Given the description of an element on the screen output the (x, y) to click on. 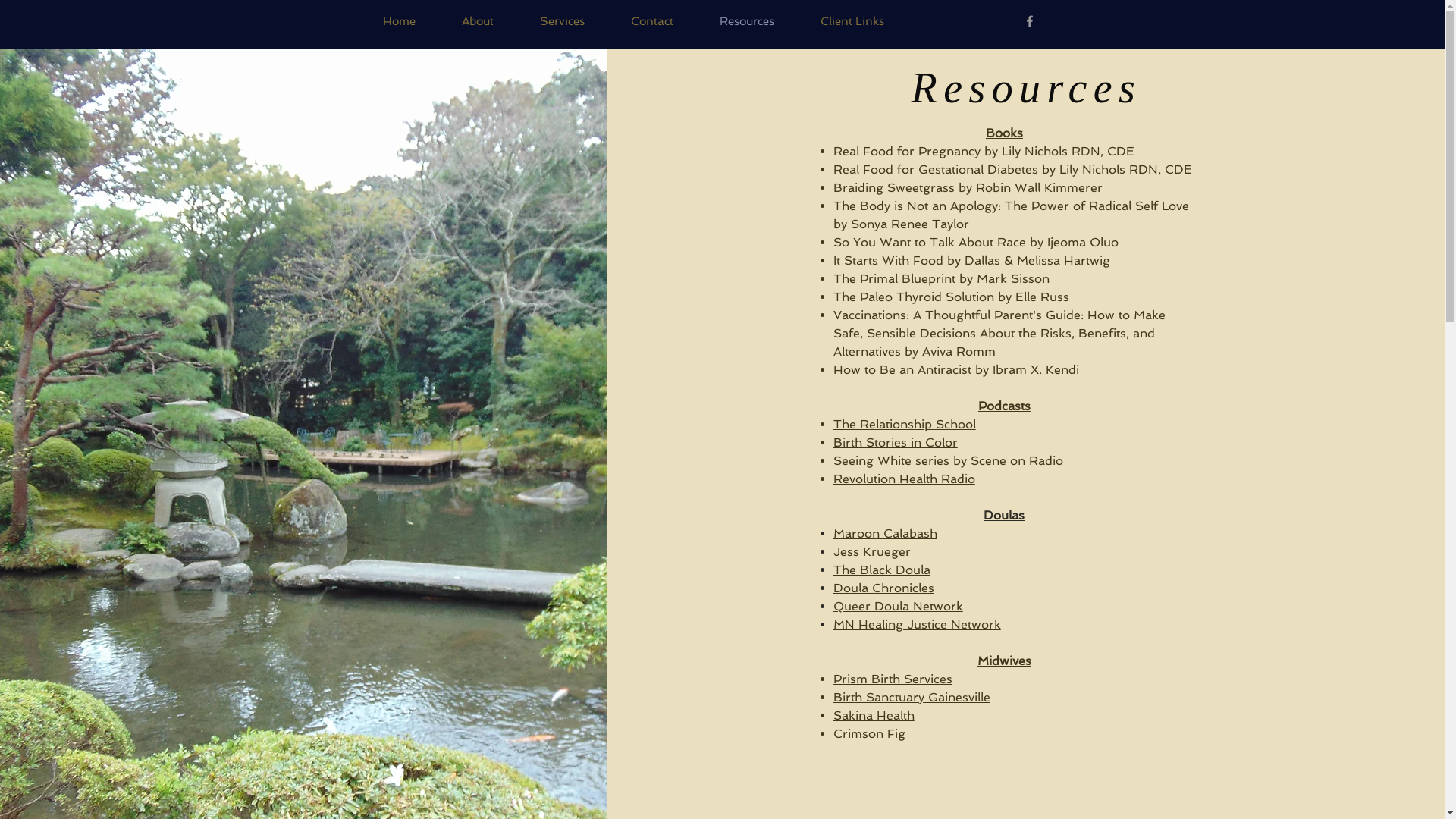
Birth Sanctuary Gainesville Element type: text (911, 697)
Jess Krueger Element type: text (871, 551)
About Element type: text (477, 20)
Contact Element type: text (652, 20)
Queer Doula Network Element type: text (898, 606)
Revolution Health Radio Element type: text (904, 478)
MN Healing Justice Network Element type: text (917, 624)
Crimson Fig Element type: text (869, 733)
Client Links Element type: text (851, 20)
Doula Chronicles Element type: text (883, 587)
The Relationship School Element type: text (904, 424)
Resources Element type: text (746, 20)
Services Element type: text (562, 20)
The Black Doula Element type: text (881, 569)
Home Element type: text (398, 20)
Birth Stories in Color Element type: text (895, 442)
Seeing White series by Scene on Radio Element type: text (948, 460)
Sakina Health Element type: text (873, 715)
Maroon Calabash Element type: text (885, 533)
Prism Birth Services Element type: text (892, 678)
